Given the description of an element on the screen output the (x, y) to click on. 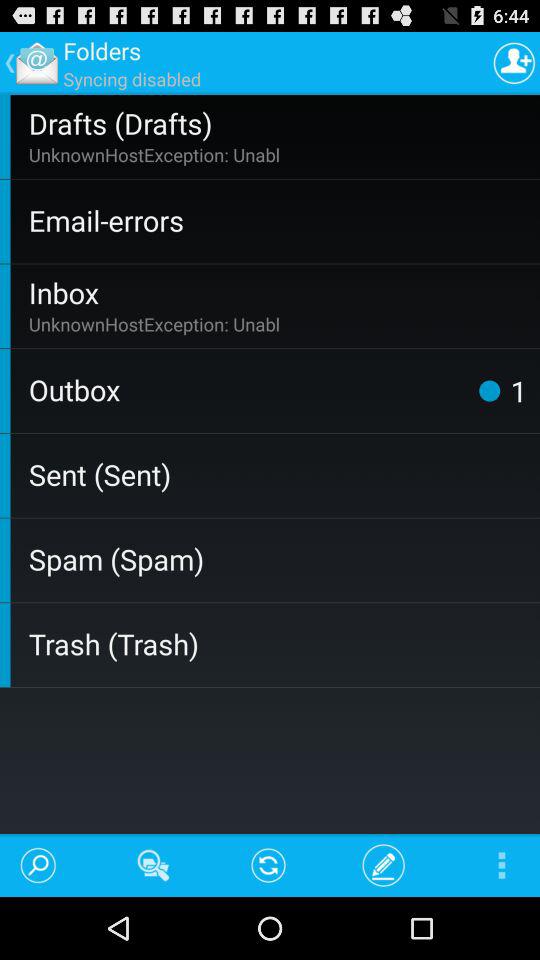
tap the app next to the syncing disabled app (514, 62)
